Given the description of an element on the screen output the (x, y) to click on. 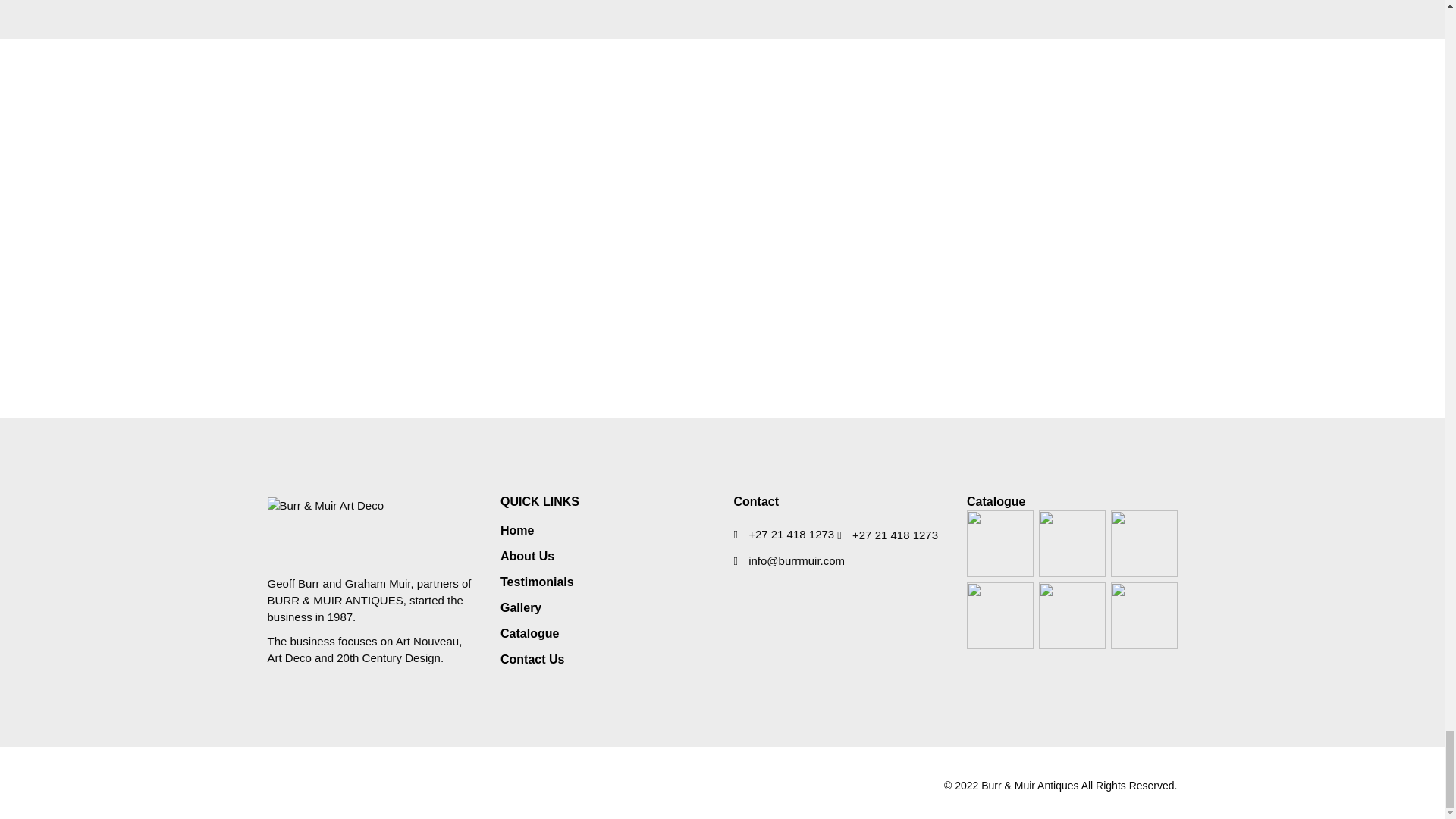
06-1 (1143, 615)
04-1 (999, 615)
01-1 (999, 543)
03-1 (1143, 543)
02-1 (1072, 543)
05-1 (1072, 615)
